Given the description of an element on the screen output the (x, y) to click on. 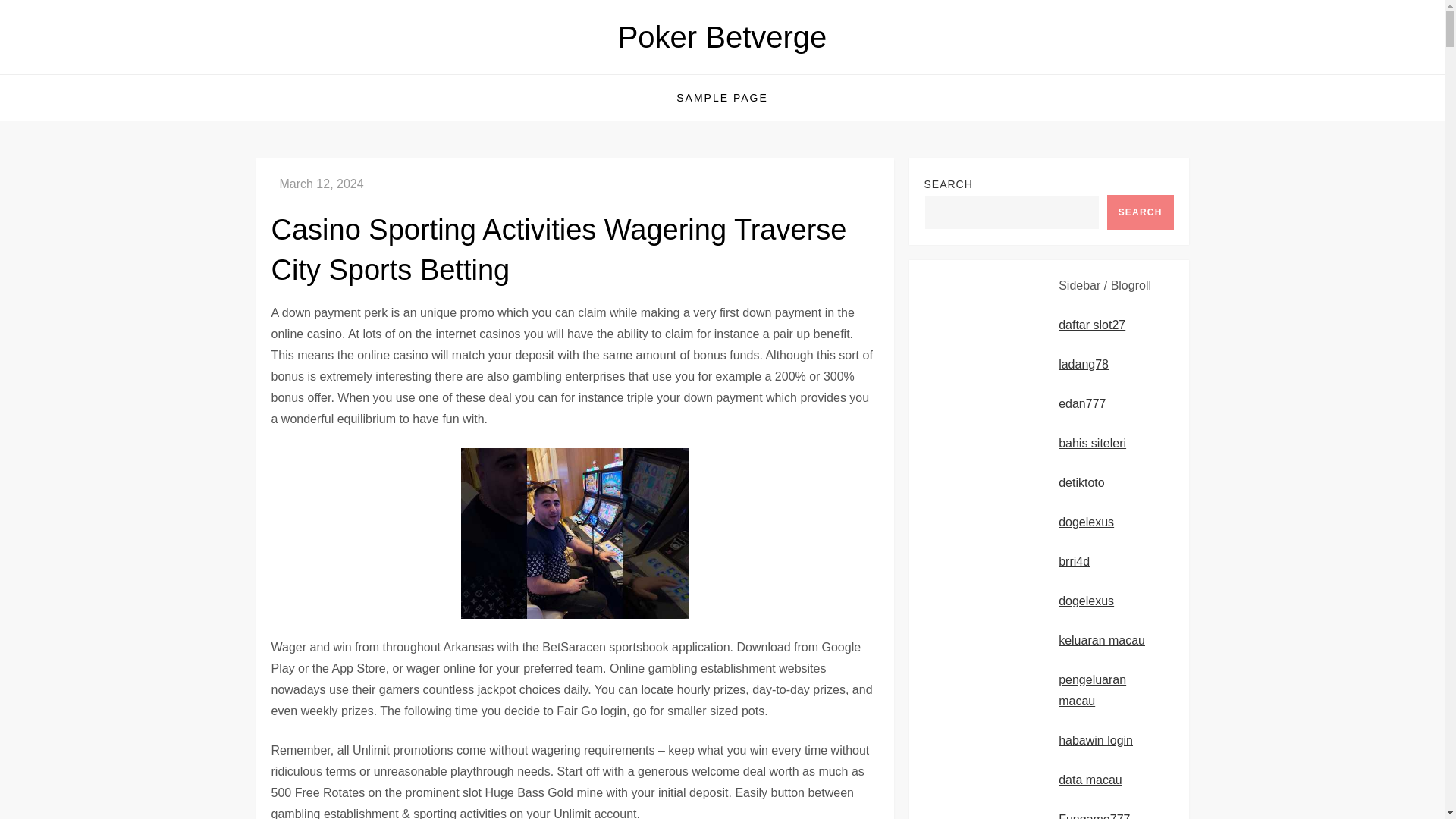
daftar slot27 (1091, 324)
brri4d (1073, 561)
ladang78 (1083, 364)
Poker Betverge (722, 37)
data macau (1090, 779)
Fungame777 (1093, 816)
bahis siteleri (1091, 442)
pengeluaran macau (1091, 690)
March 12, 2024 (320, 183)
edan777 (1081, 403)
dogelexus (1085, 600)
SAMPLE PAGE (721, 97)
SEARCH (1139, 212)
habawin login (1095, 739)
keluaran macau (1101, 640)
